Given the description of an element on the screen output the (x, y) to click on. 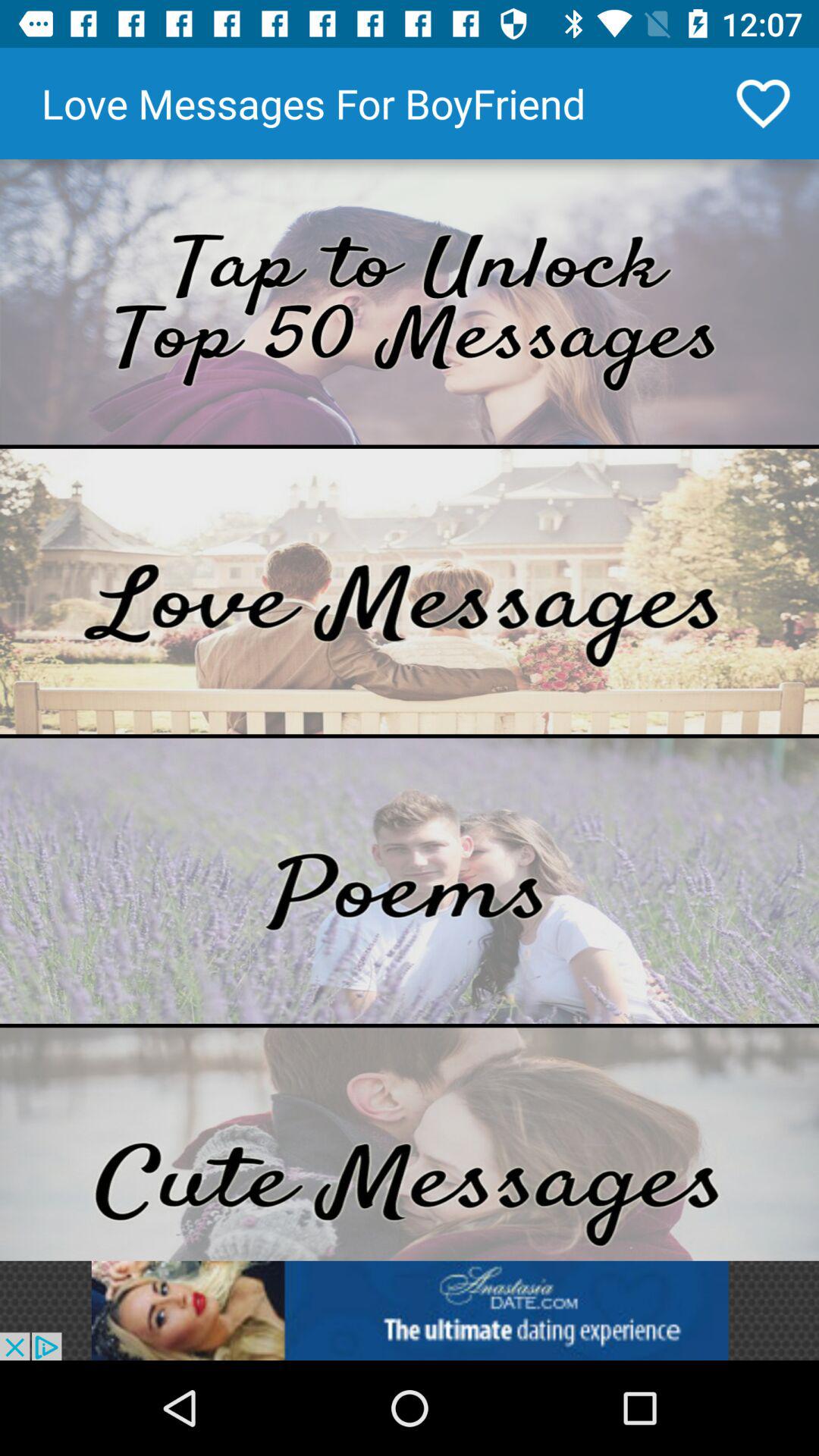
open the page (409, 1143)
